Given the description of an element on the screen output the (x, y) to click on. 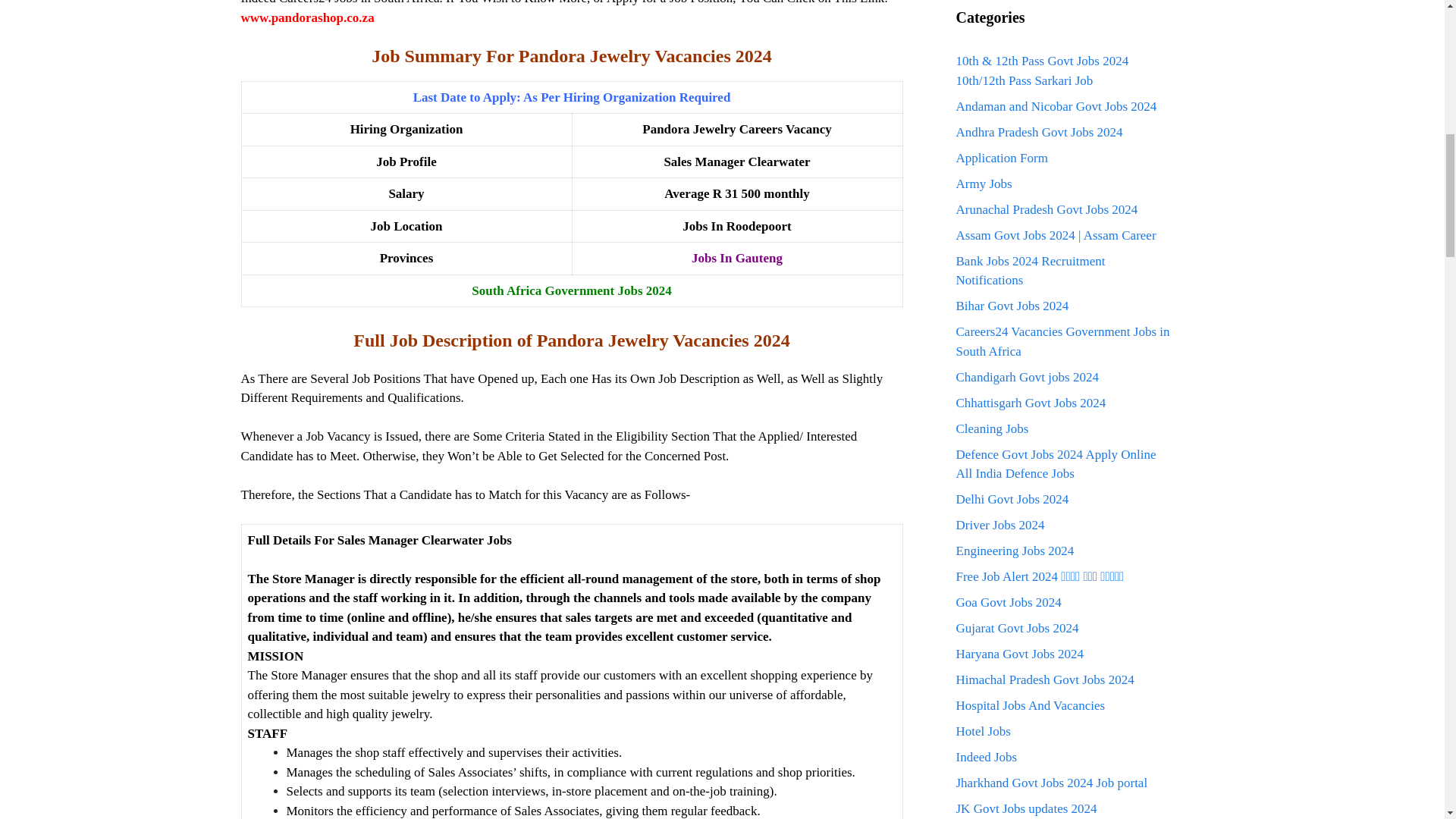
Jobs In Gauteng (737, 257)
South Africa Government Jobs 2024 (571, 290)
